Given the description of an element on the screen output the (x, y) to click on. 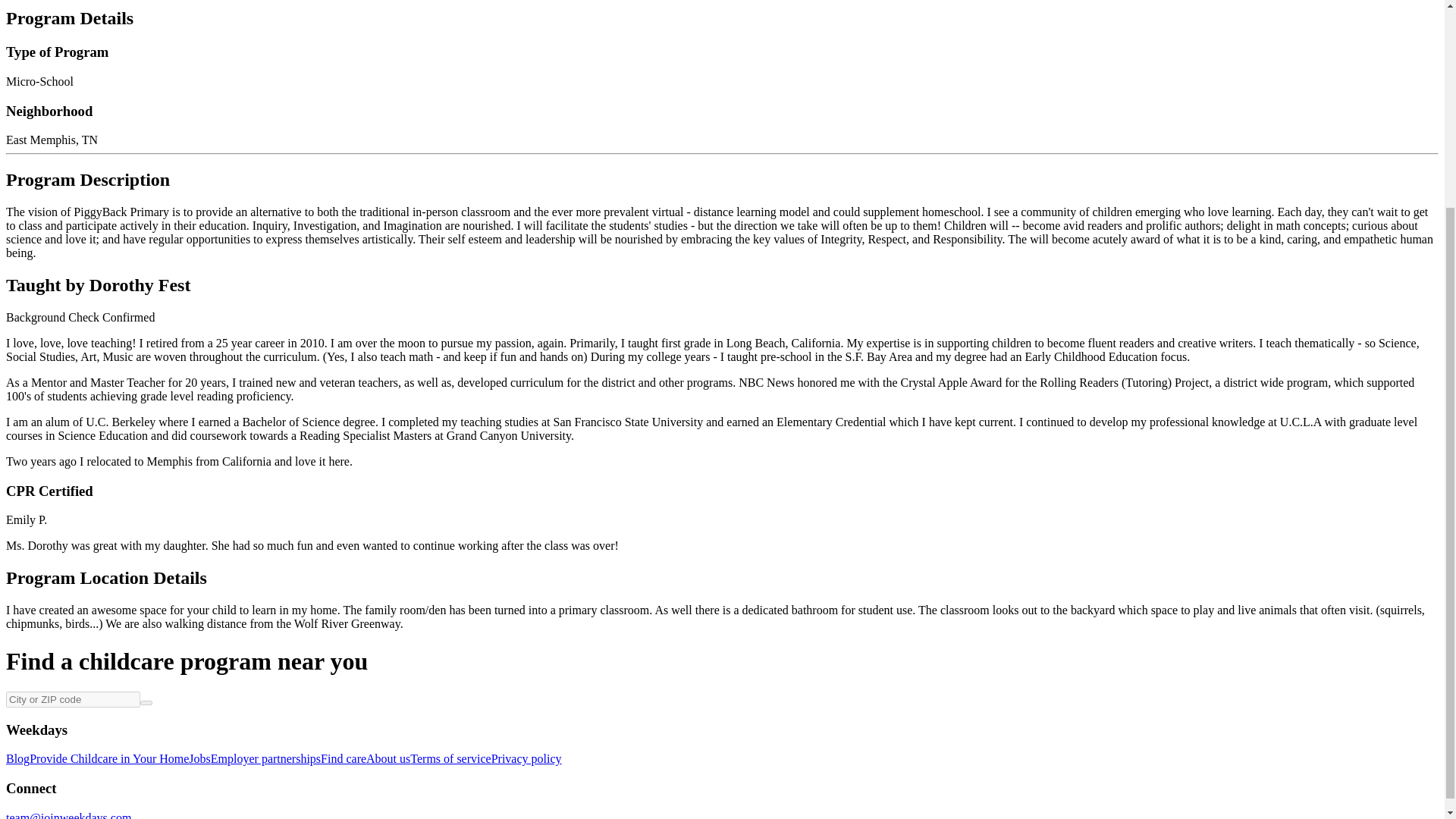
Employer partnerships (265, 758)
Terms of service (450, 758)
Privacy policy (527, 758)
About us (388, 758)
Provide Childcare in Your Home (109, 758)
Jobs (199, 758)
Find care (343, 758)
Blog (17, 758)
